Given the description of an element on the screen output the (x, y) to click on. 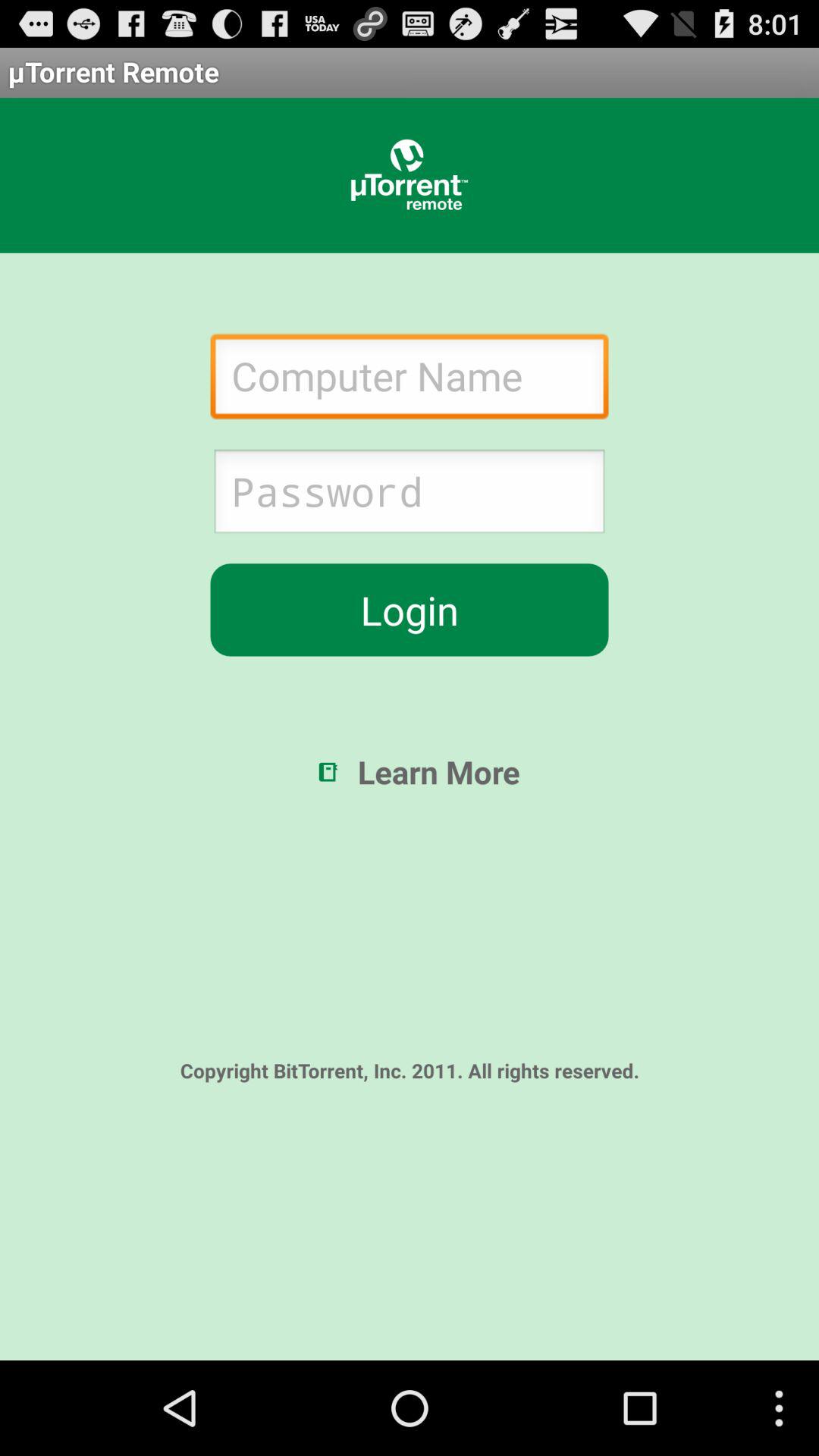
launch login button (409, 609)
